Given the description of an element on the screen output the (x, y) to click on. 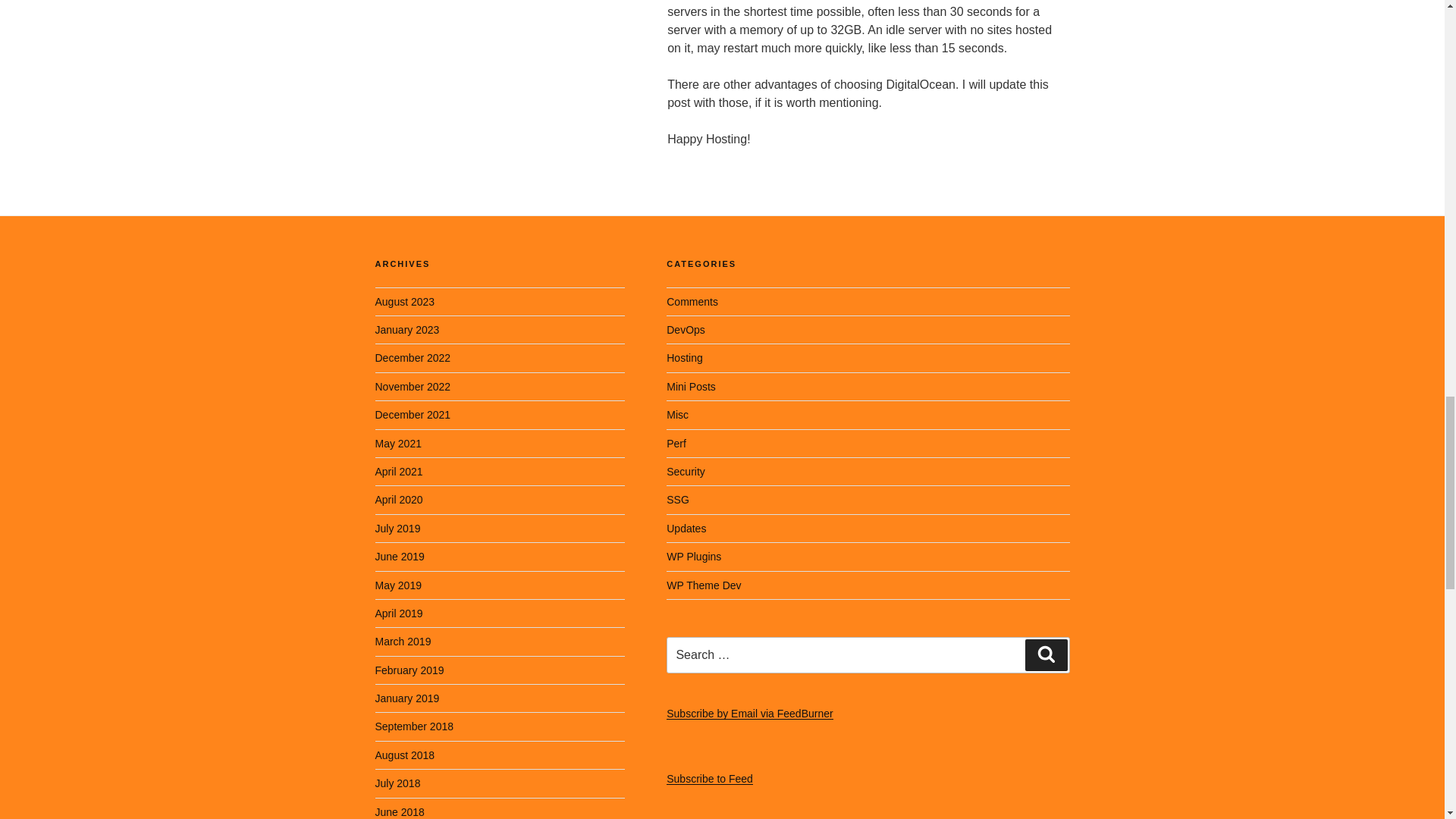
August 2023 (403, 301)
June 2019 (398, 556)
January 2019 (406, 698)
November 2022 (411, 386)
September 2018 (413, 726)
April 2021 (398, 471)
January 2023 (406, 329)
August 2018 (403, 755)
May 2019 (397, 585)
March 2019 (402, 641)
April 2020 (398, 499)
July 2019 (397, 528)
June 2018 (398, 811)
December 2021 (411, 414)
July 2018 (397, 783)
